Given the description of an element on the screen output the (x, y) to click on. 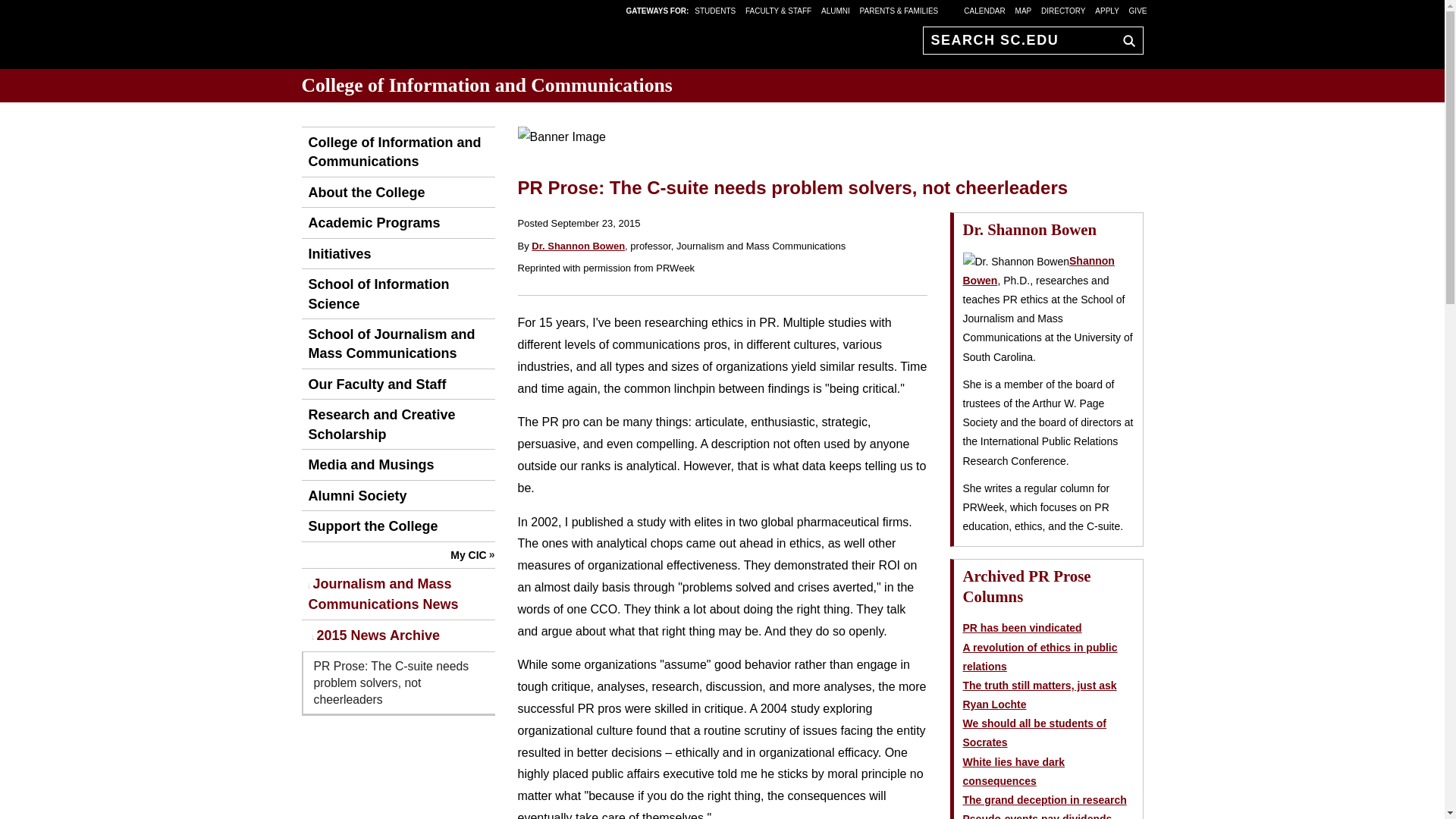
GIVE (1138, 9)
MAP (1023, 9)
CALENDAR (983, 9)
STUDENTS (716, 9)
sc.edu Search (1125, 40)
ALUMNI (835, 9)
DIRECTORY (1063, 9)
GO (1125, 40)
University of South Carolina Home (396, 38)
APPLY (1106, 9)
